Given the description of an element on the screen output the (x, y) to click on. 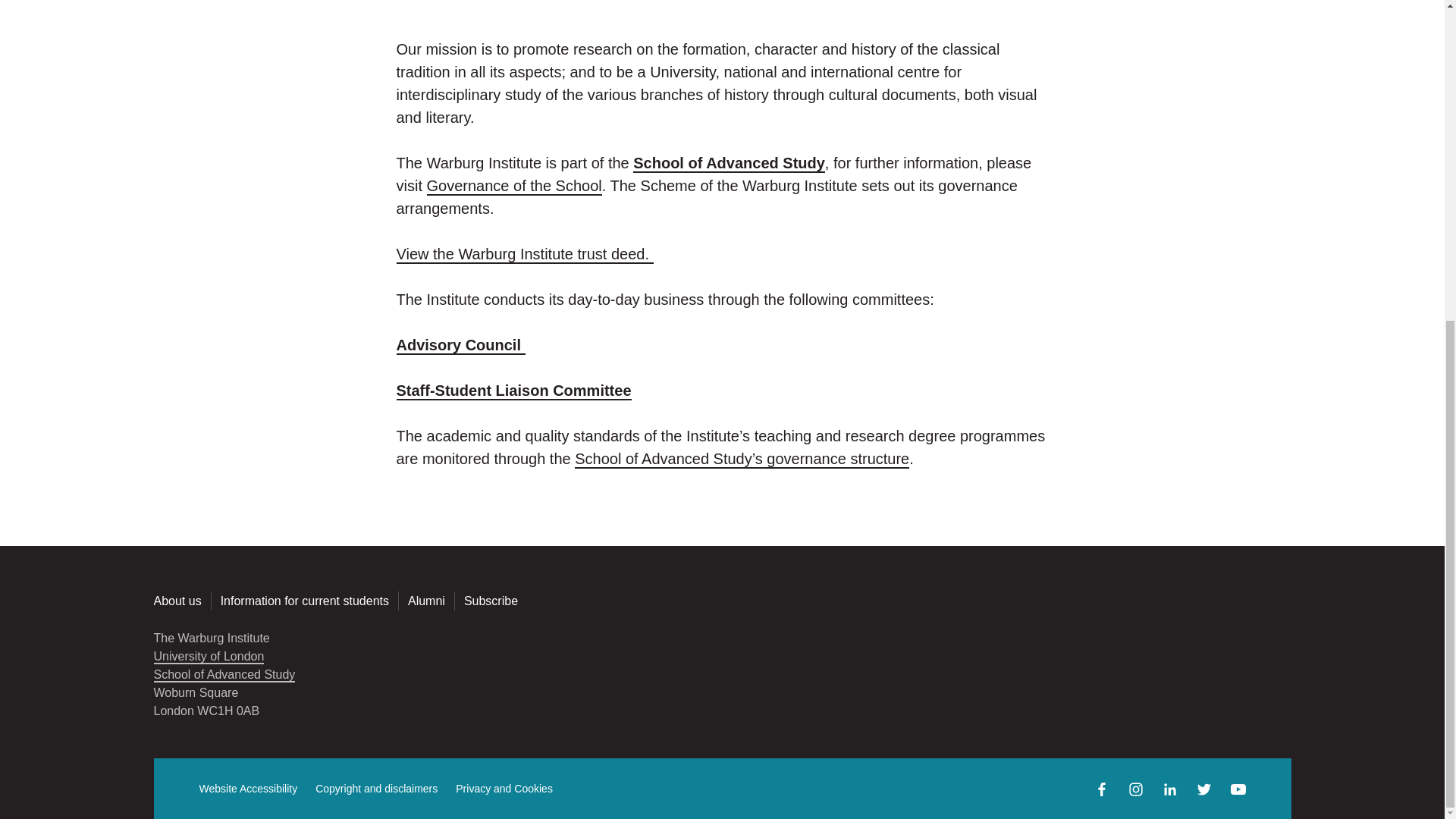
Staff Student Liaison Committee of the Warburg Institute (513, 390)
advisory (460, 344)
